Given the description of an element on the screen output the (x, y) to click on. 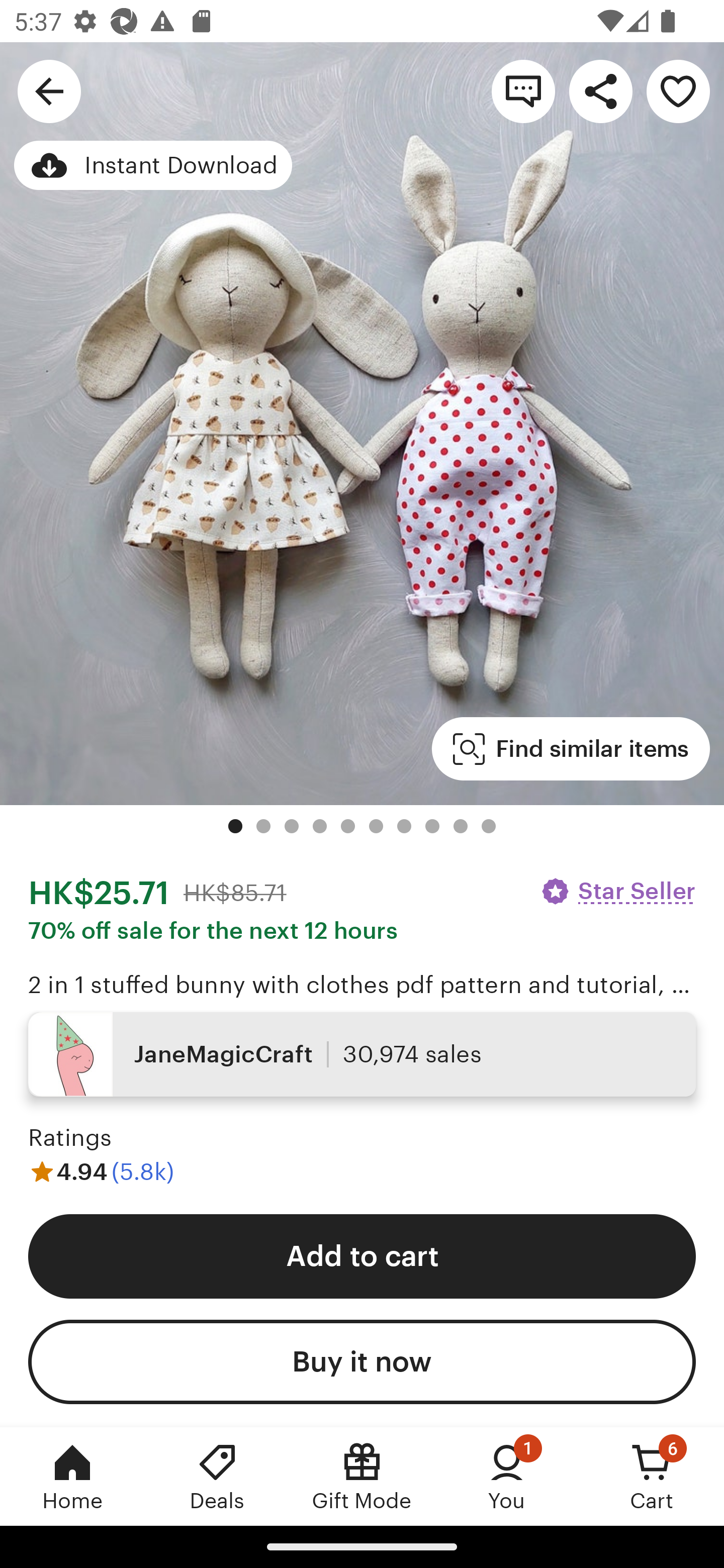
Navigate up (49, 90)
Contact shop (523, 90)
Share (600, 90)
Find similar items (571, 748)
Star Seller (617, 890)
JaneMagicCraft 30,974 sales (361, 1054)
Ratings (70, 1137)
4.94 (5.8k) (101, 1171)
Add to cart (361, 1255)
Buy it now (361, 1362)
Deals (216, 1475)
Gift Mode (361, 1475)
You, 1 new notification You (506, 1475)
Cart, 6 new notifications Cart (651, 1475)
